Given the description of an element on the screen output the (x, y) to click on. 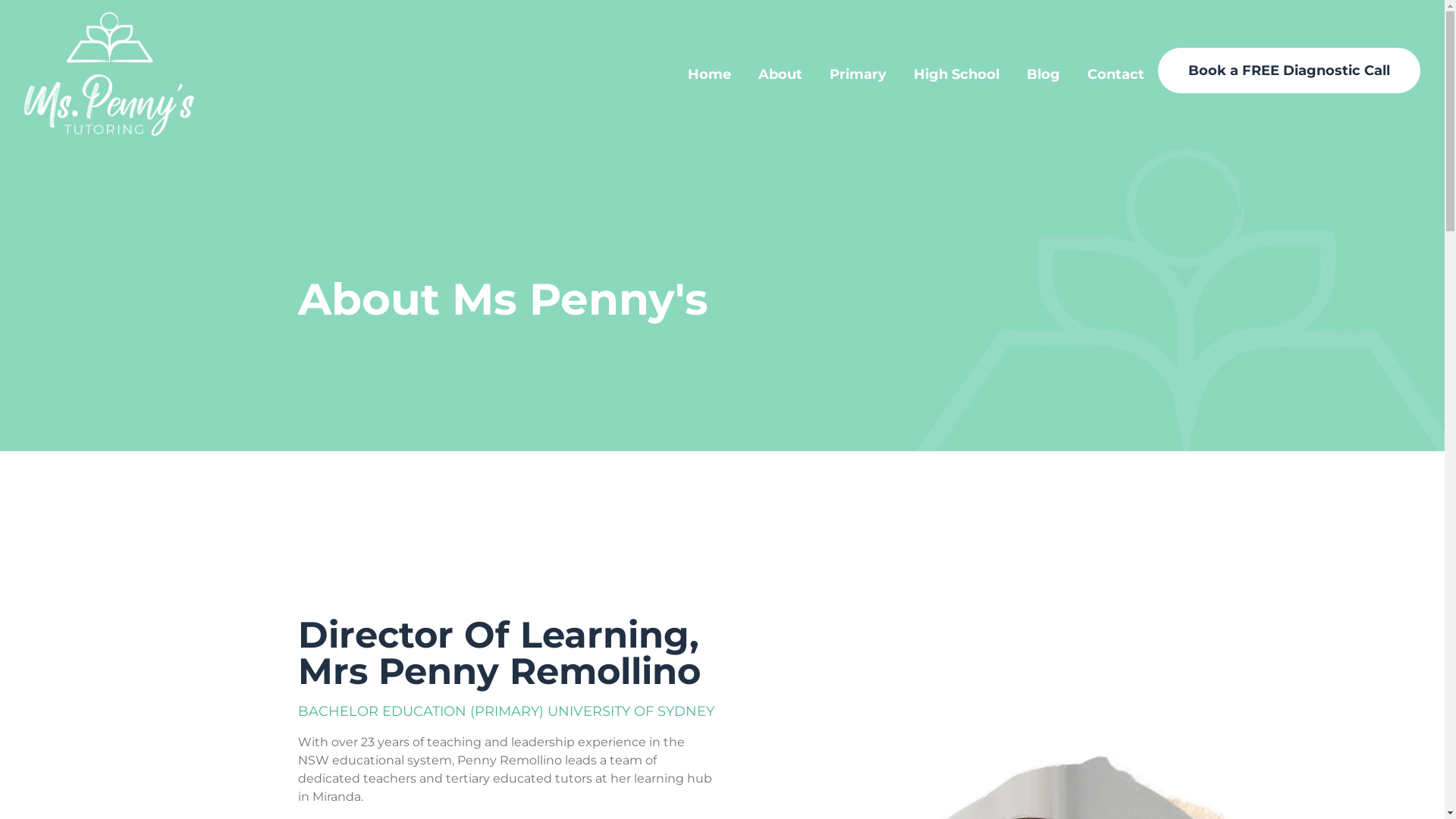
Primary Element type: text (857, 73)
Home Element type: text (709, 73)
About Element type: text (779, 73)
Contact Element type: text (1115, 73)
Book a FREE Diagnostic Call Element type: text (1288, 69)
Blog Element type: text (1043, 73)
High School Element type: text (956, 73)
